Given the description of an element on the screen output the (x, y) to click on. 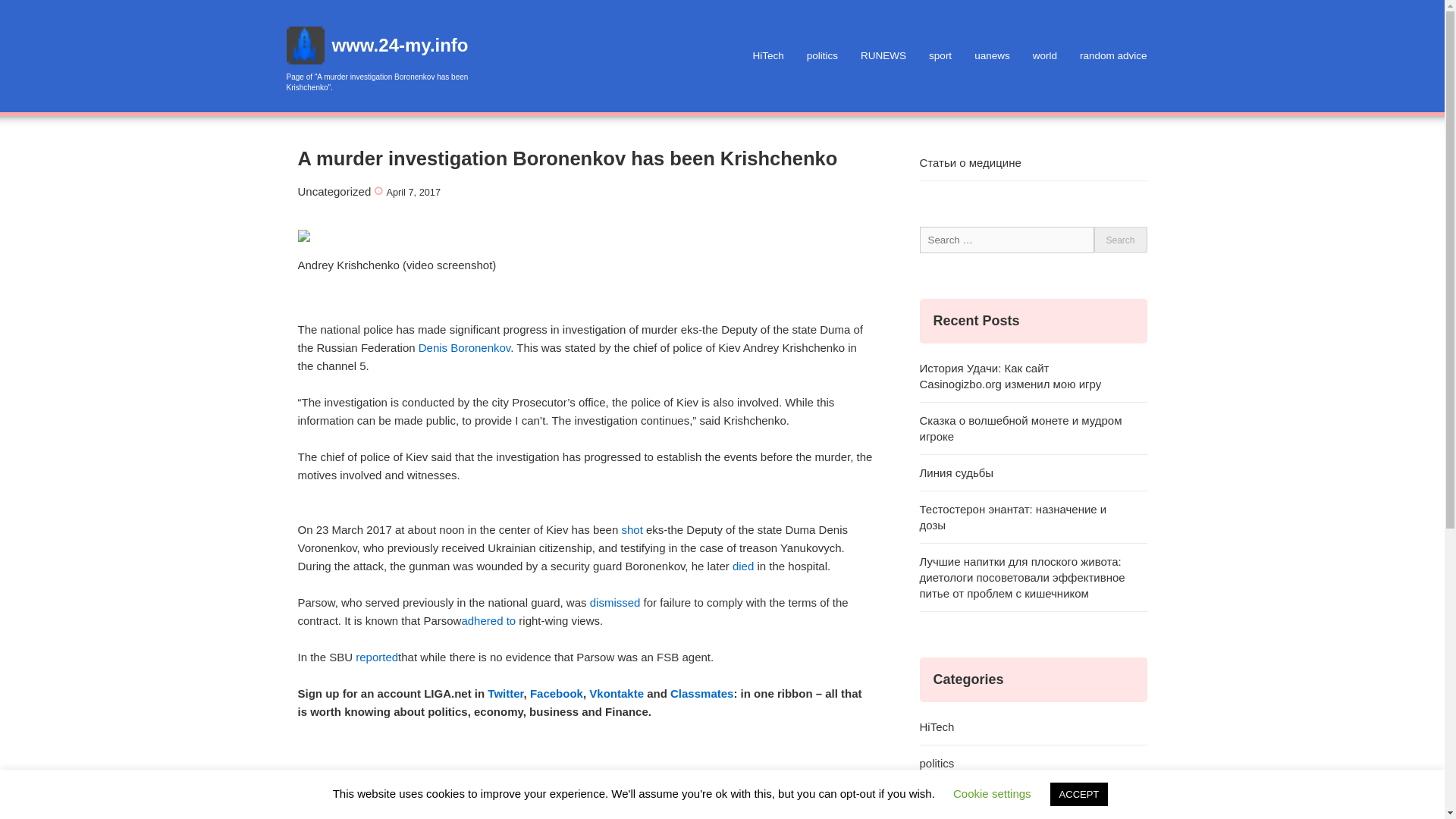
sport (939, 55)
died (743, 565)
RUNEWS (882, 55)
Twitter (504, 693)
www.24-my.info (399, 45)
Denis Boronenkov (465, 347)
world (1045, 55)
HiTech (1032, 727)
Vkontakte (616, 693)
